Given the description of an element on the screen output the (x, y) to click on. 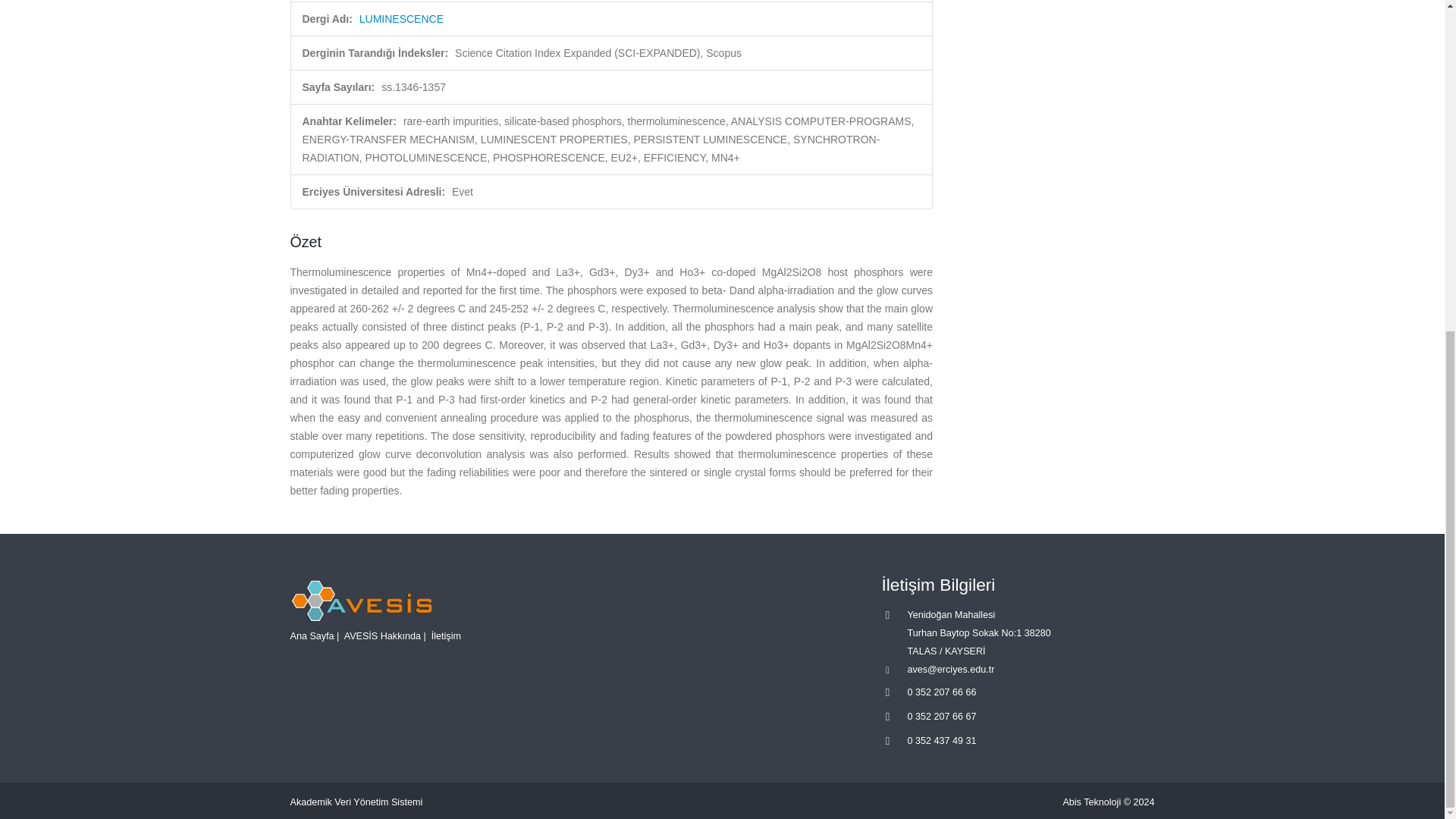
Ana Sayfa (311, 635)
Abis Teknoloji (1091, 801)
0 352 207 66 66 (941, 692)
0 352 207 66 67 (941, 716)
LUMINESCENCE (401, 19)
0 352 437 49 31 (941, 740)
